Given the description of an element on the screen output the (x, y) to click on. 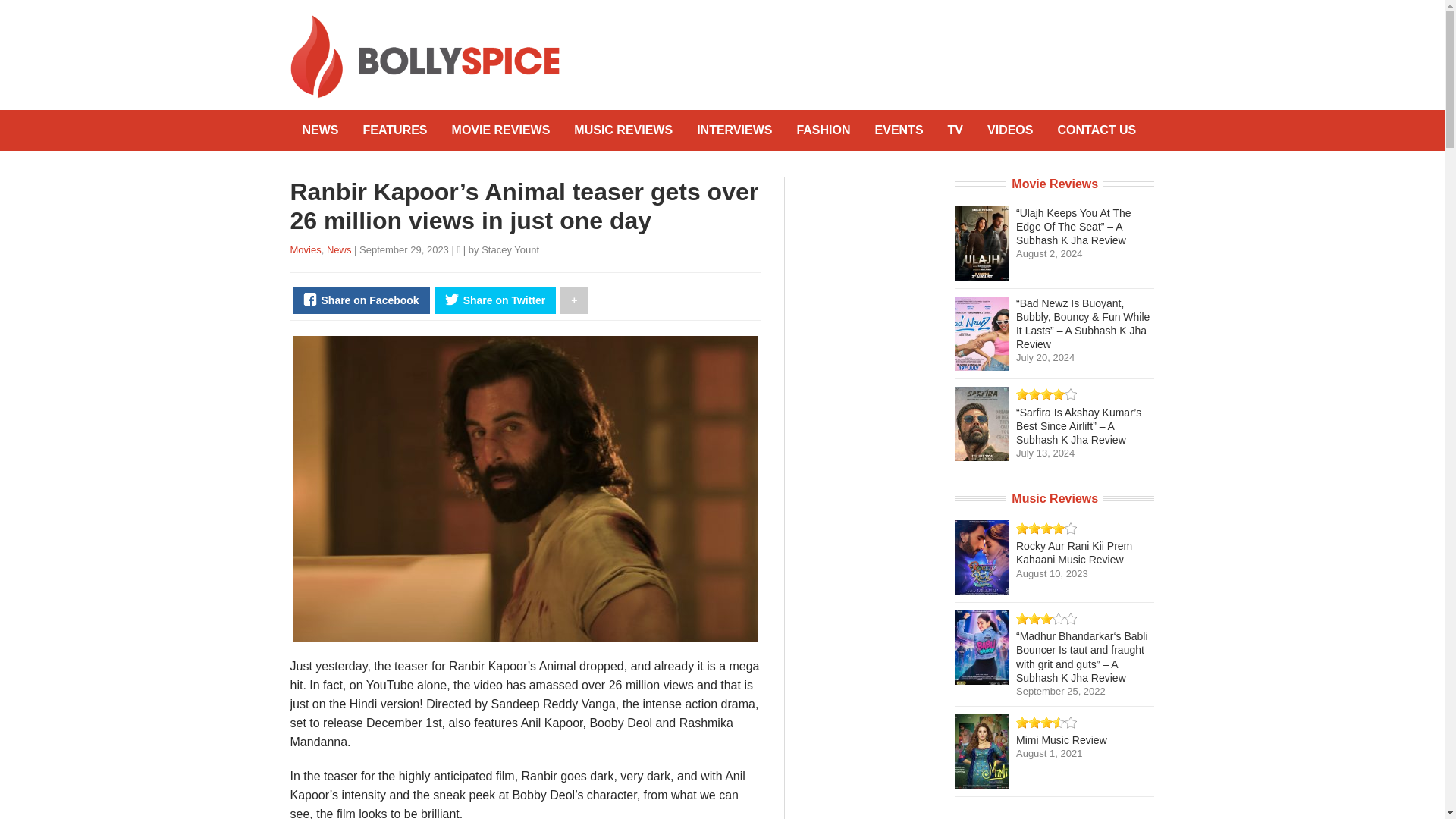
VIDEOS (1010, 130)
MUSIC REVIEWS (623, 130)
Movies (304, 249)
TV (955, 130)
September 29, 2023 (405, 249)
CONTACT US (1096, 130)
EVENTS (899, 130)
August 2, 2024 (1048, 253)
INTERVIEWS (734, 130)
July 13, 2024 (1045, 452)
July 20, 2024 (1045, 357)
News (339, 249)
Stacey Yount (509, 249)
Rocky Aur Rani Kii Prem Kahaani Music Review (1074, 552)
FASHION (822, 130)
